Given the description of an element on the screen output the (x, y) to click on. 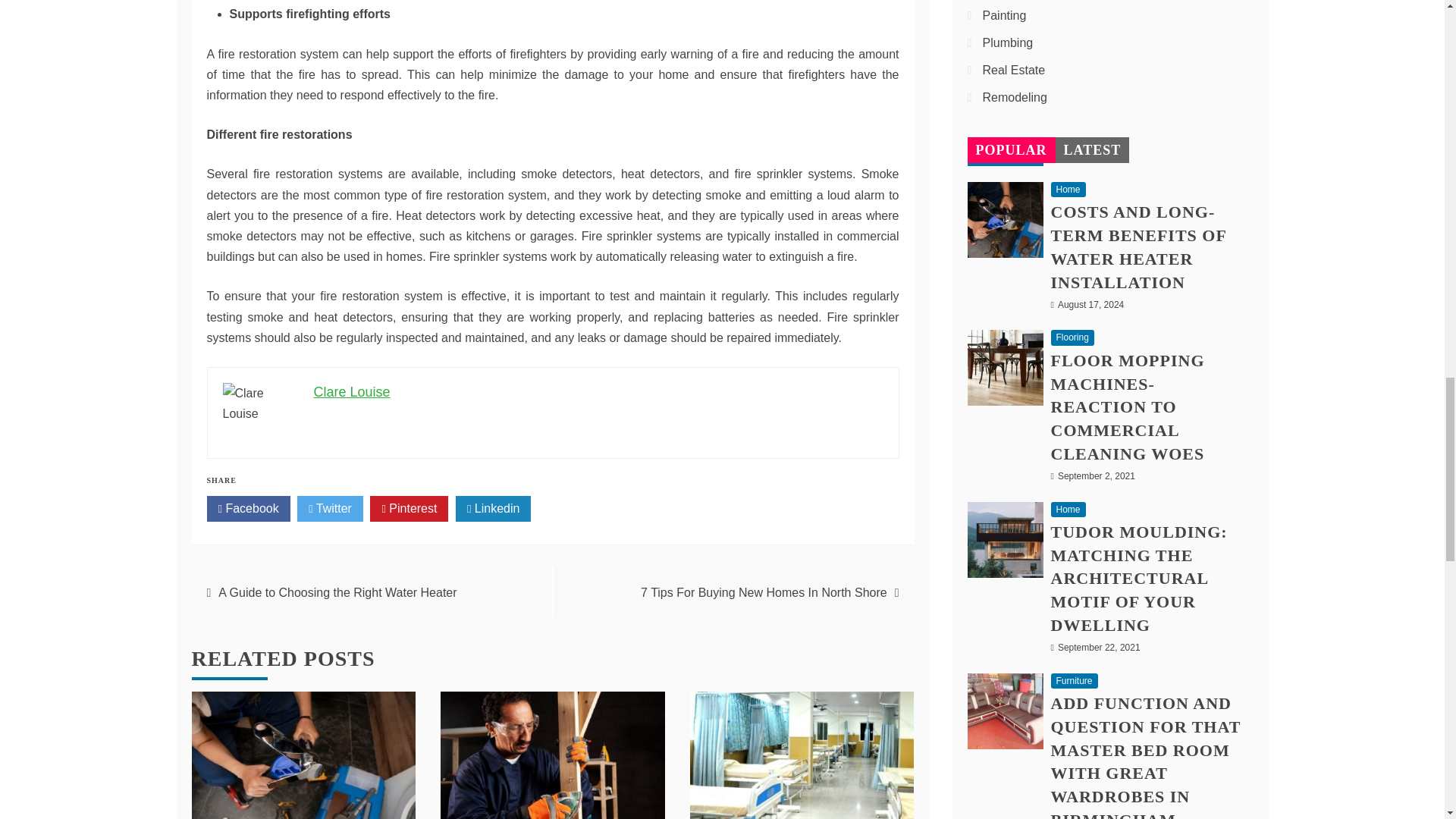
Pinterest (408, 508)
Clare Louise (352, 391)
7 Tips For Buying New Homes In North Shore (763, 592)
Twitter (329, 508)
Linkedin (493, 508)
Facebook (247, 508)
A Guide to Choosing the Right Water Heater (337, 592)
